Given the description of an element on the screen output the (x, y) to click on. 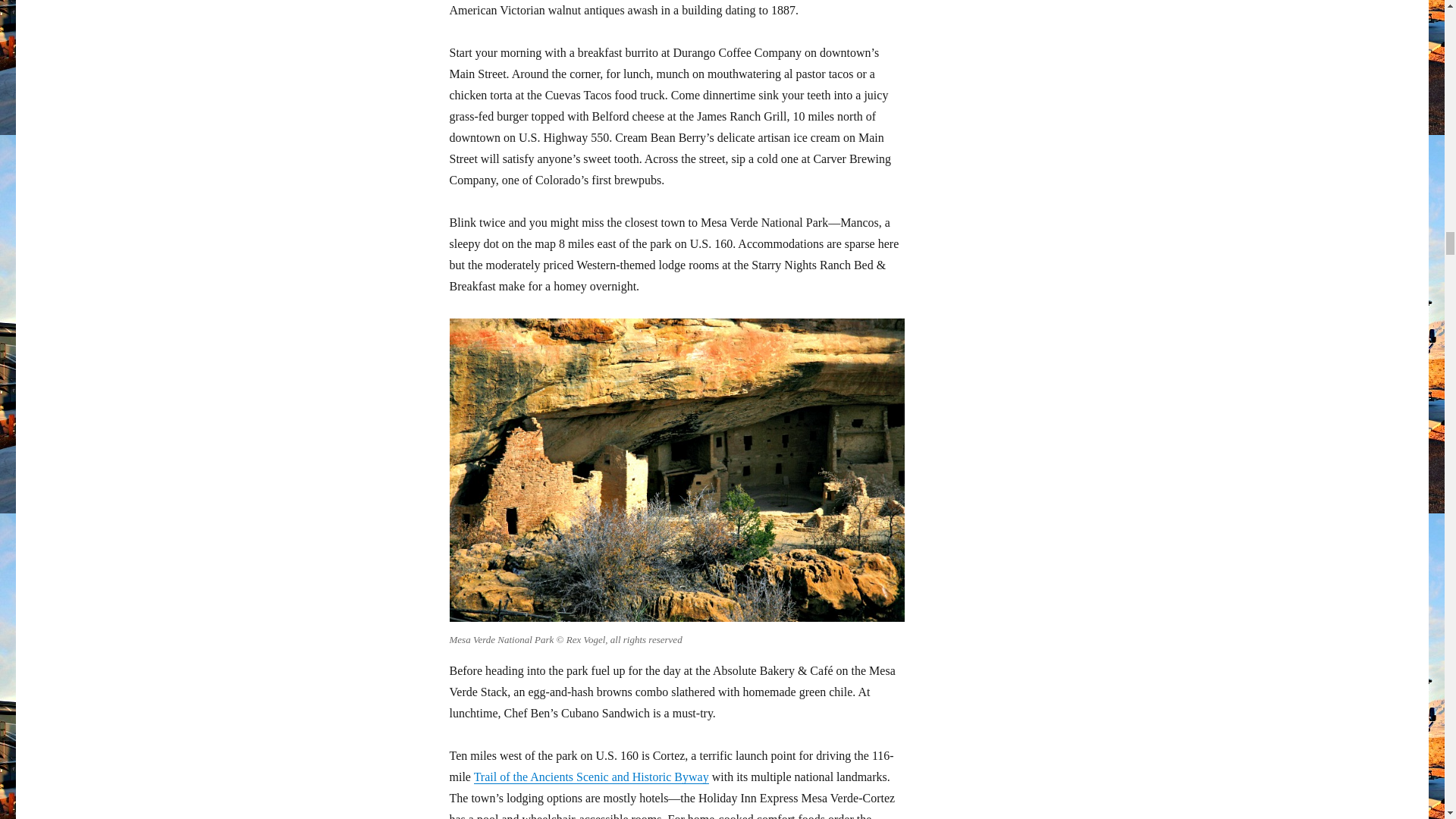
Trail of the Ancients Scenic and Historic Byway (591, 776)
